Given the description of an element on the screen output the (x, y) to click on. 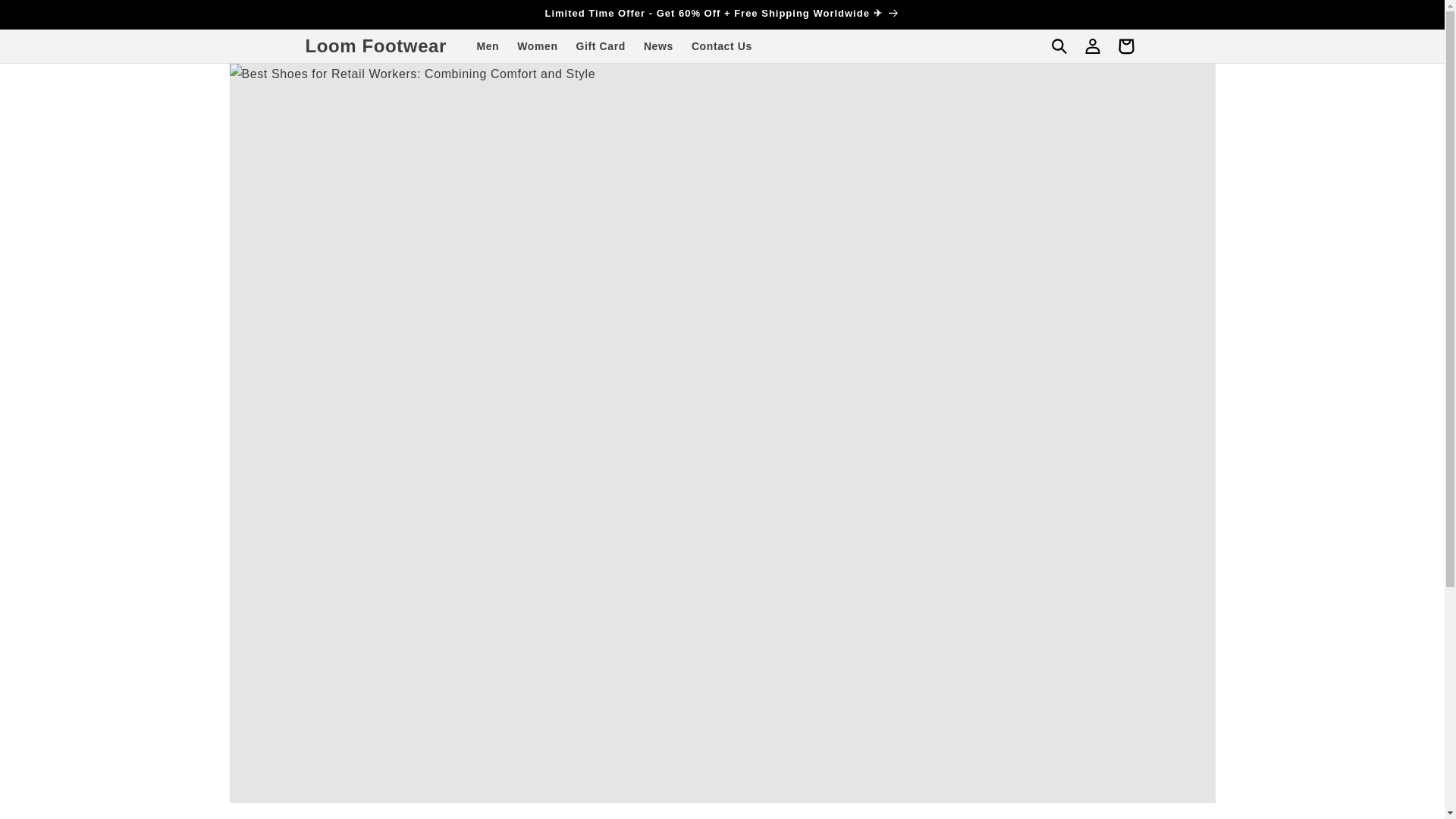
Gift Card (600, 46)
News (658, 46)
Cart (1124, 46)
Loom Footwear (375, 46)
Skip to content (45, 17)
Women (537, 46)
Men (487, 46)
Contact Us (721, 46)
Log in (1091, 46)
